Given the description of an element on the screen output the (x, y) to click on. 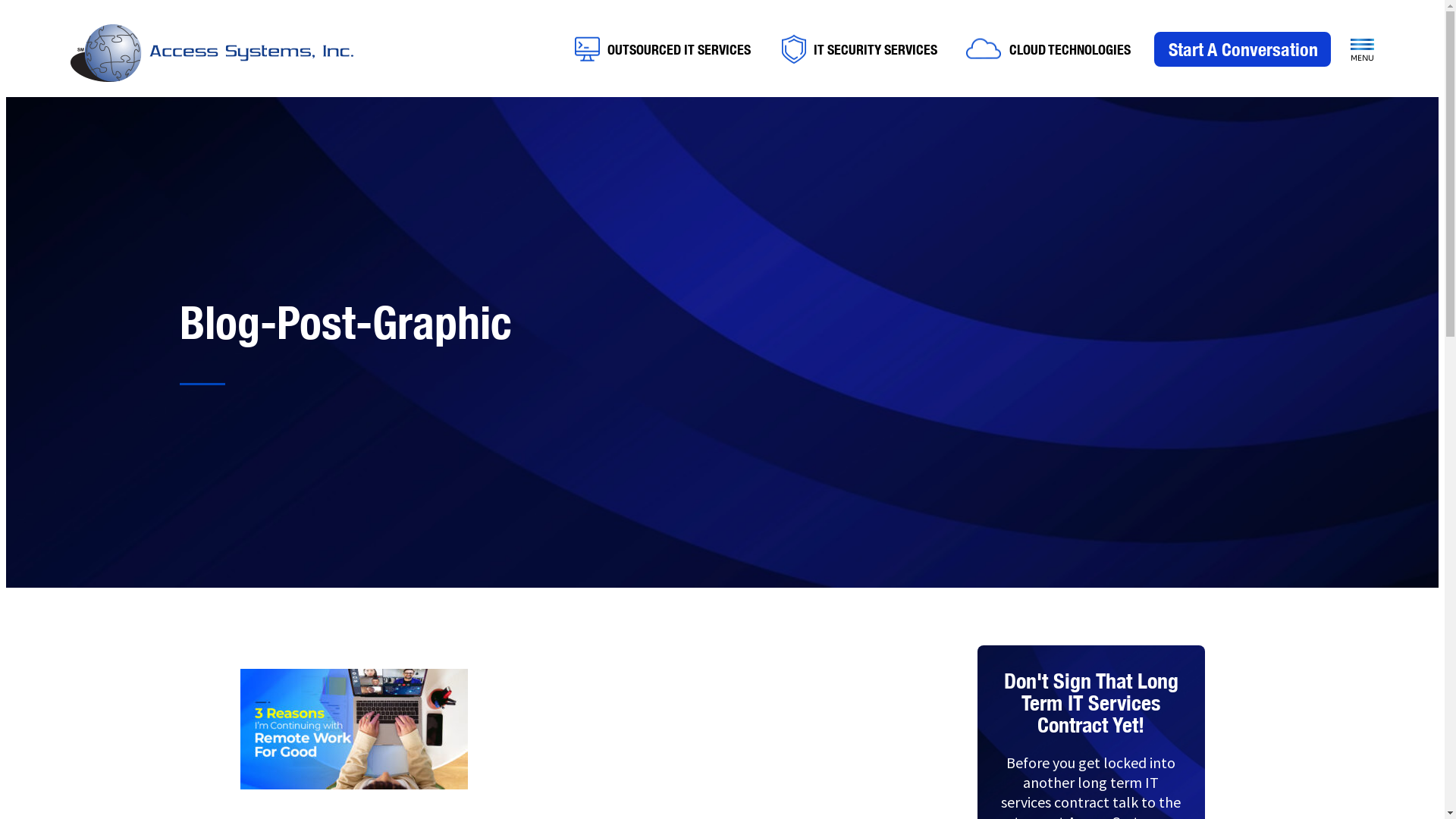
OUTSOURCED IT SERVICES Element type: text (662, 51)
Start A Conversation Element type: text (1242, 48)
IT SECURITY SERVICES Element type: text (859, 51)
MENU Element type: text (1362, 50)
CLOUD TECHNOLOGIES Element type: text (1048, 51)
